Given the description of an element on the screen output the (x, y) to click on. 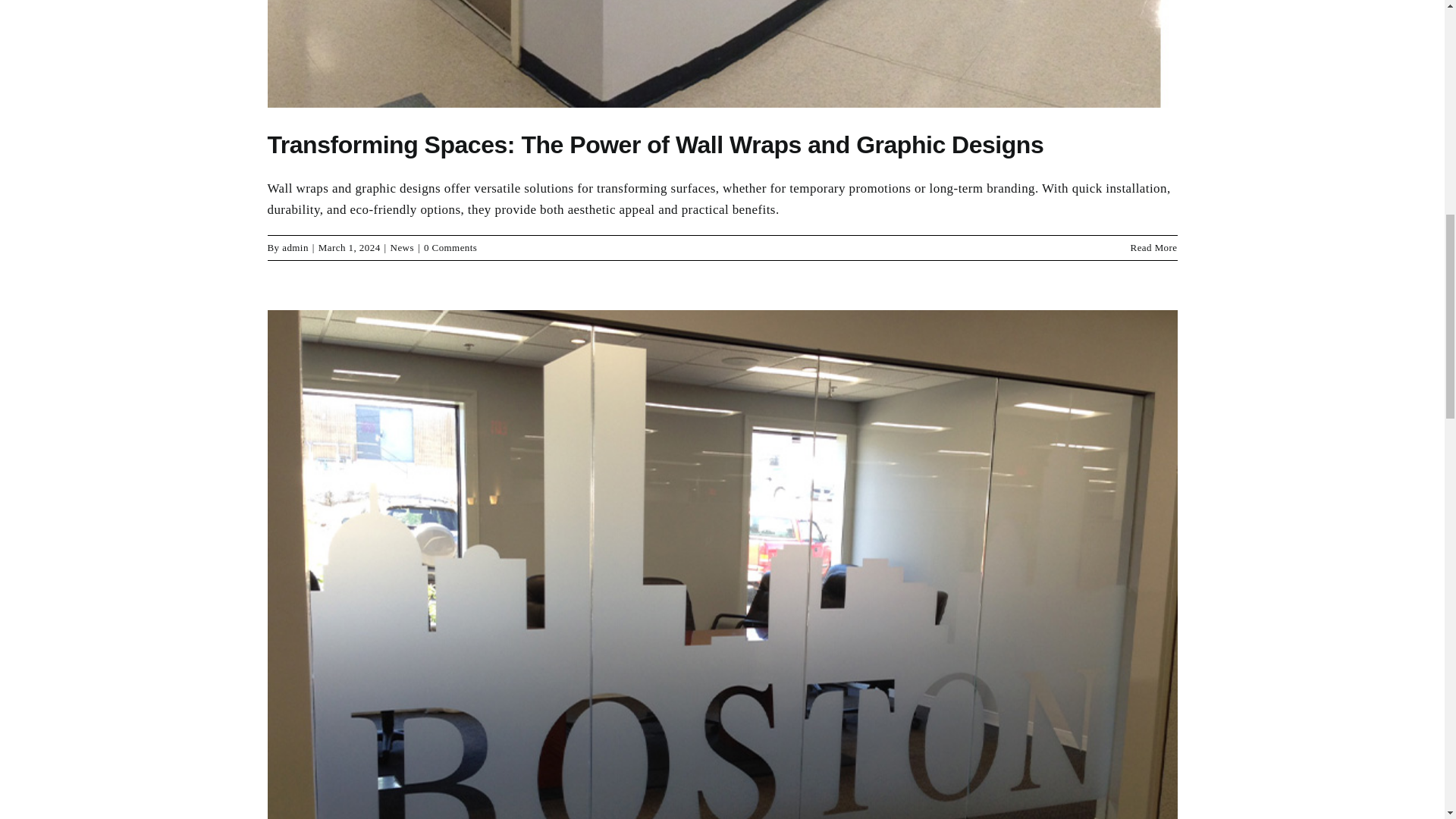
Posts by admin (295, 247)
